Given the description of an element on the screen output the (x, y) to click on. 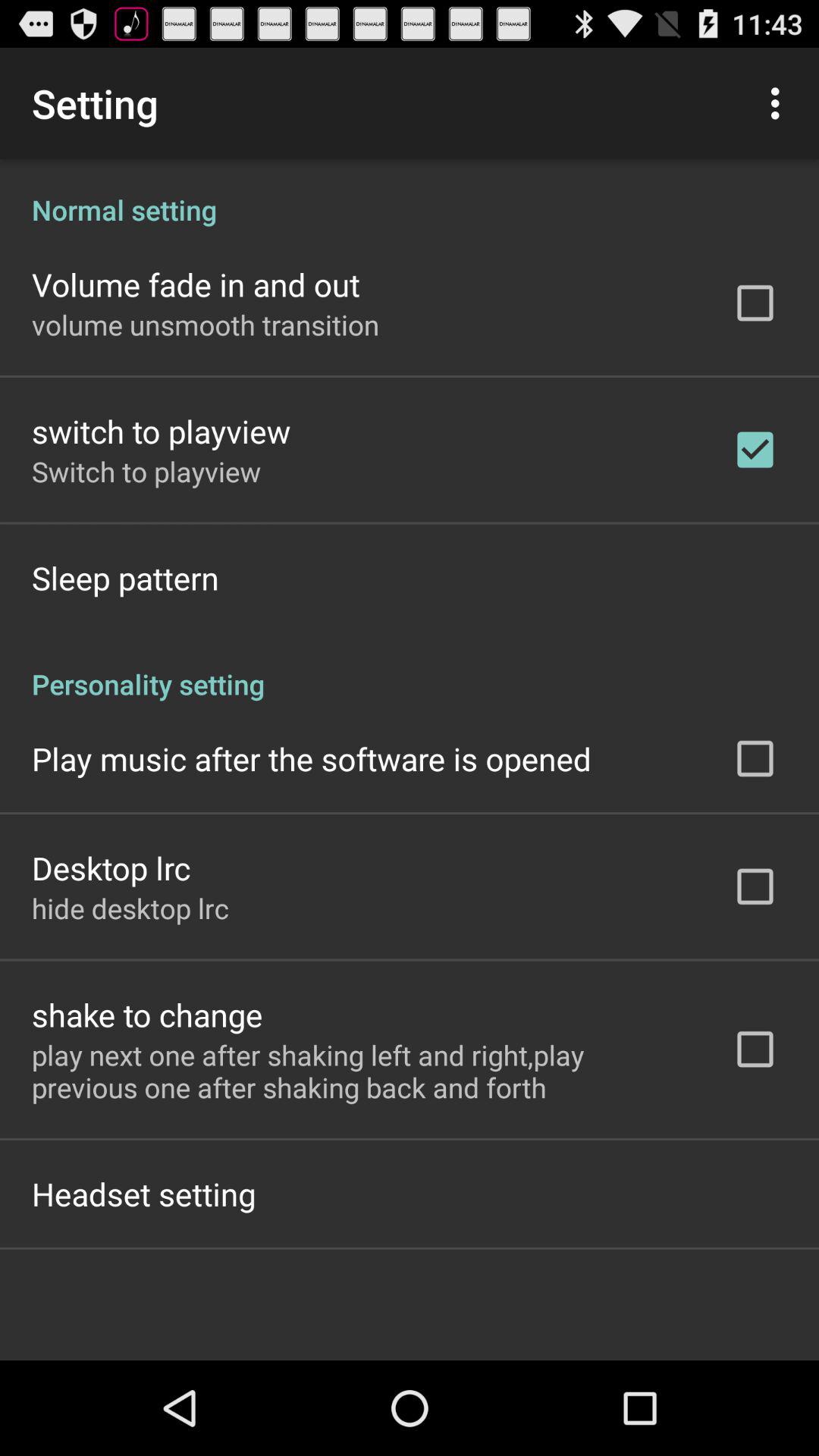
flip to the headset setting app (143, 1193)
